Given the description of an element on the screen output the (x, y) to click on. 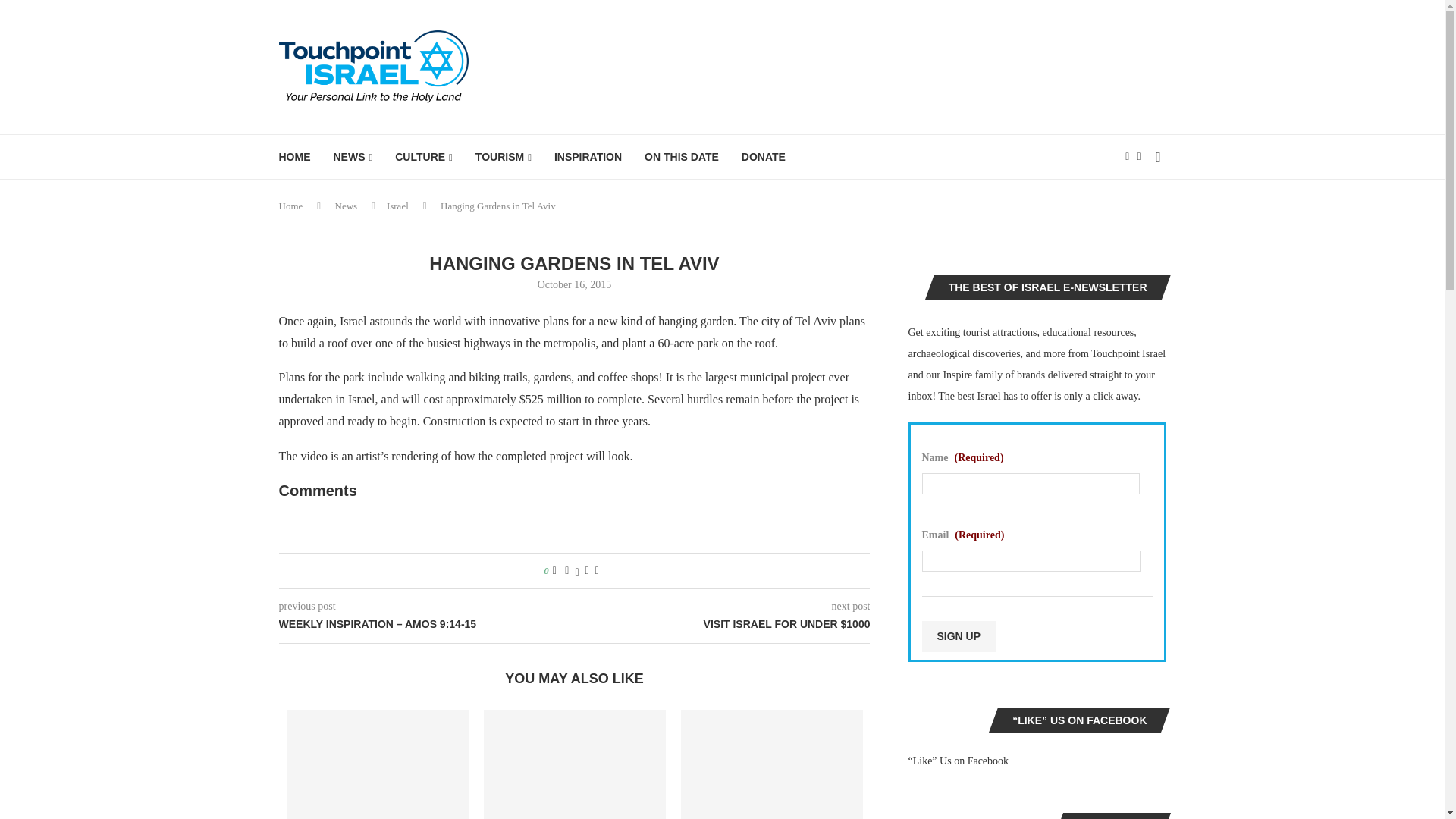
TOURISM (503, 157)
CULTURE (423, 157)
ON THIS DATE (682, 157)
Airlines flying to Israel now and those returning soon (574, 764)
DONATE (763, 157)
Israel (398, 205)
INSPIRATION (587, 157)
Airlines flying to Israel now and those returning soon (772, 764)
SIGN UP (958, 635)
Rare blue supermoon illuminates Israeli skies (377, 764)
